Given the description of an element on the screen output the (x, y) to click on. 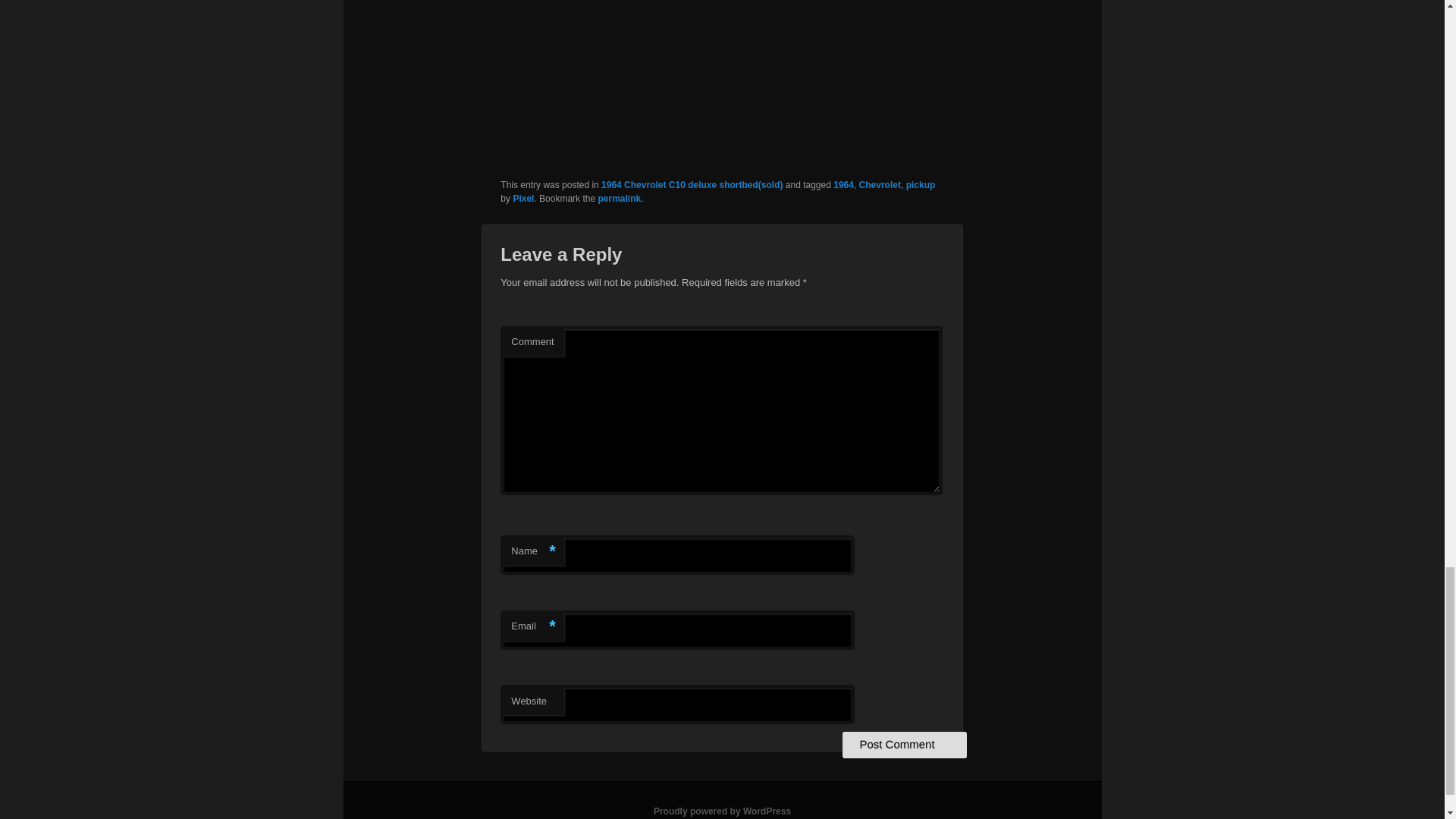
1964 (842, 184)
Pixel (523, 198)
Chevrolet (880, 184)
Post Comment (904, 744)
Post Comment (904, 744)
Proudly powered by WordPress (721, 810)
Semantic Personal Publishing Platform (721, 810)
permalink (618, 198)
pickup (920, 184)
